Given the description of an element on the screen output the (x, y) to click on. 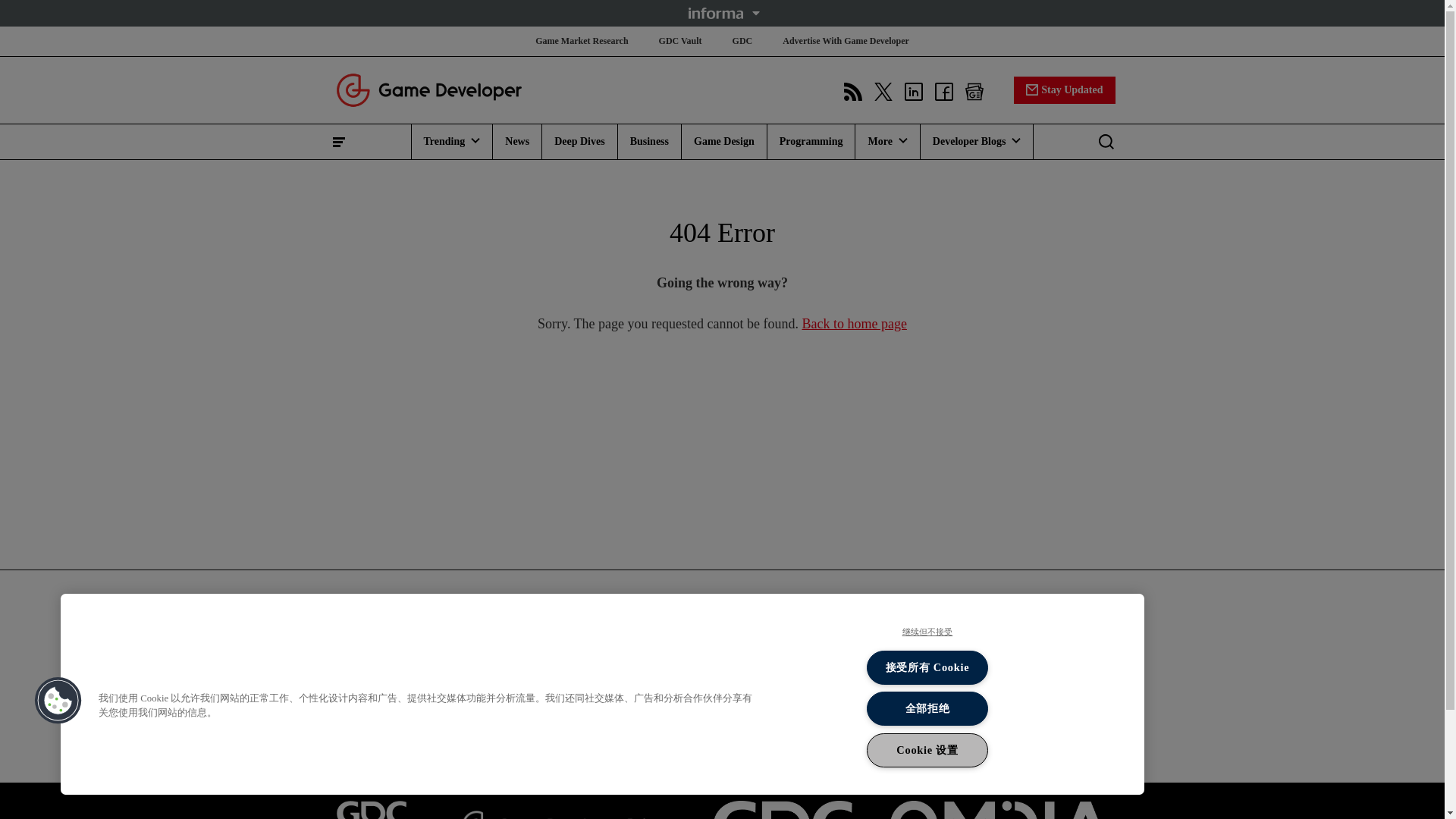
Link to GDC Vault (370, 809)
Game Developer Logo (410, 619)
Link to GDC (783, 809)
Stay Updated (1064, 89)
Advertise With Game Developer (845, 41)
Link to Omdia (999, 809)
Cookies Button (57, 700)
Business (649, 141)
Programming (810, 141)
Link to Game Developer Job Board (560, 809)
